Given the description of an element on the screen output the (x, y) to click on. 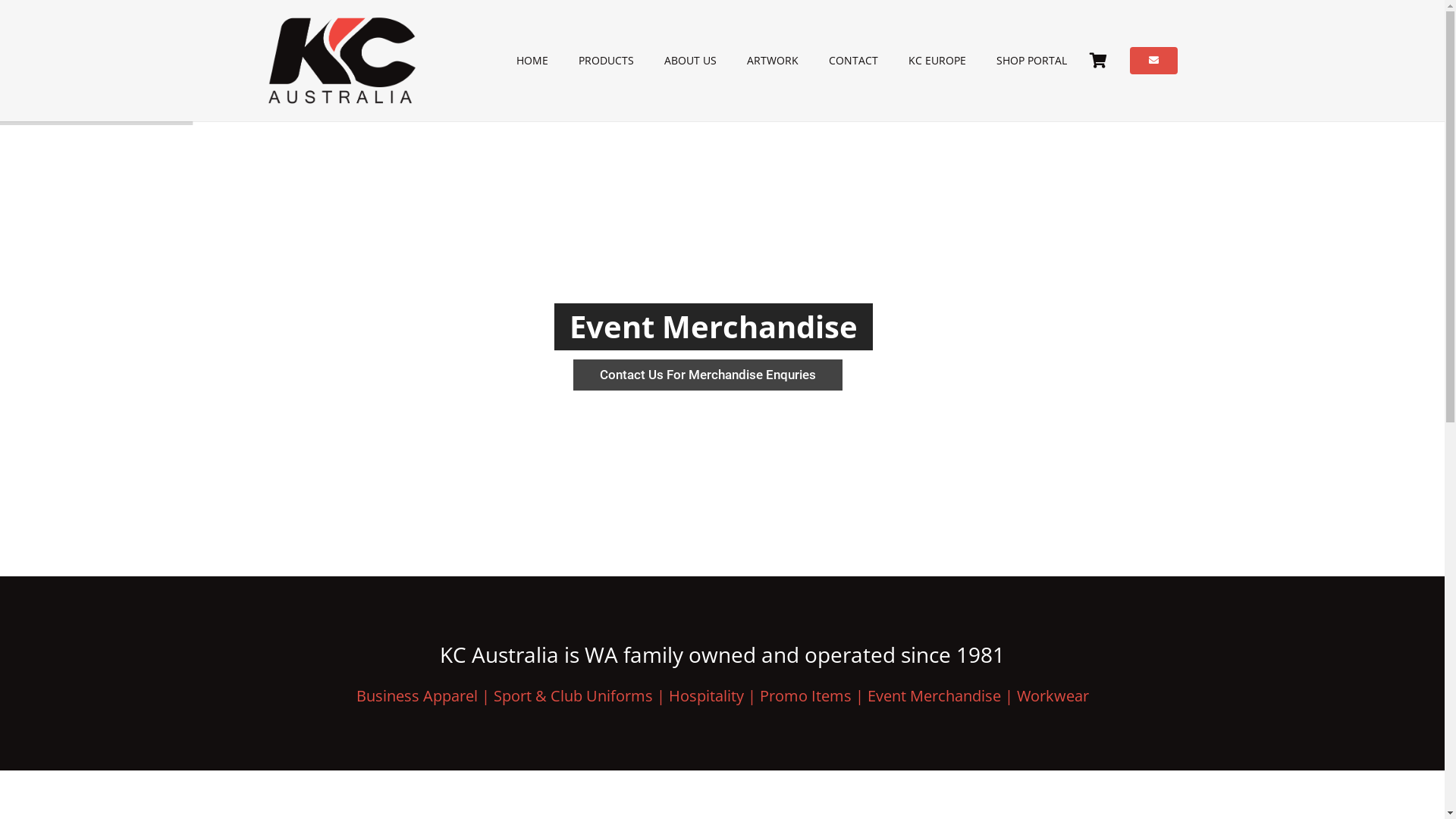
HOME Element type: text (532, 60)
PRODUCTS Element type: text (606, 60)
SHOP PORTAL Element type: text (1031, 60)
KC EUROPE Element type: text (937, 60)
0 Element type: text (1098, 60)
ARTWORK Element type: text (772, 60)
ABOUT US Element type: text (690, 60)
CONTACT Element type: text (853, 60)
